Given the description of an element on the screen output the (x, y) to click on. 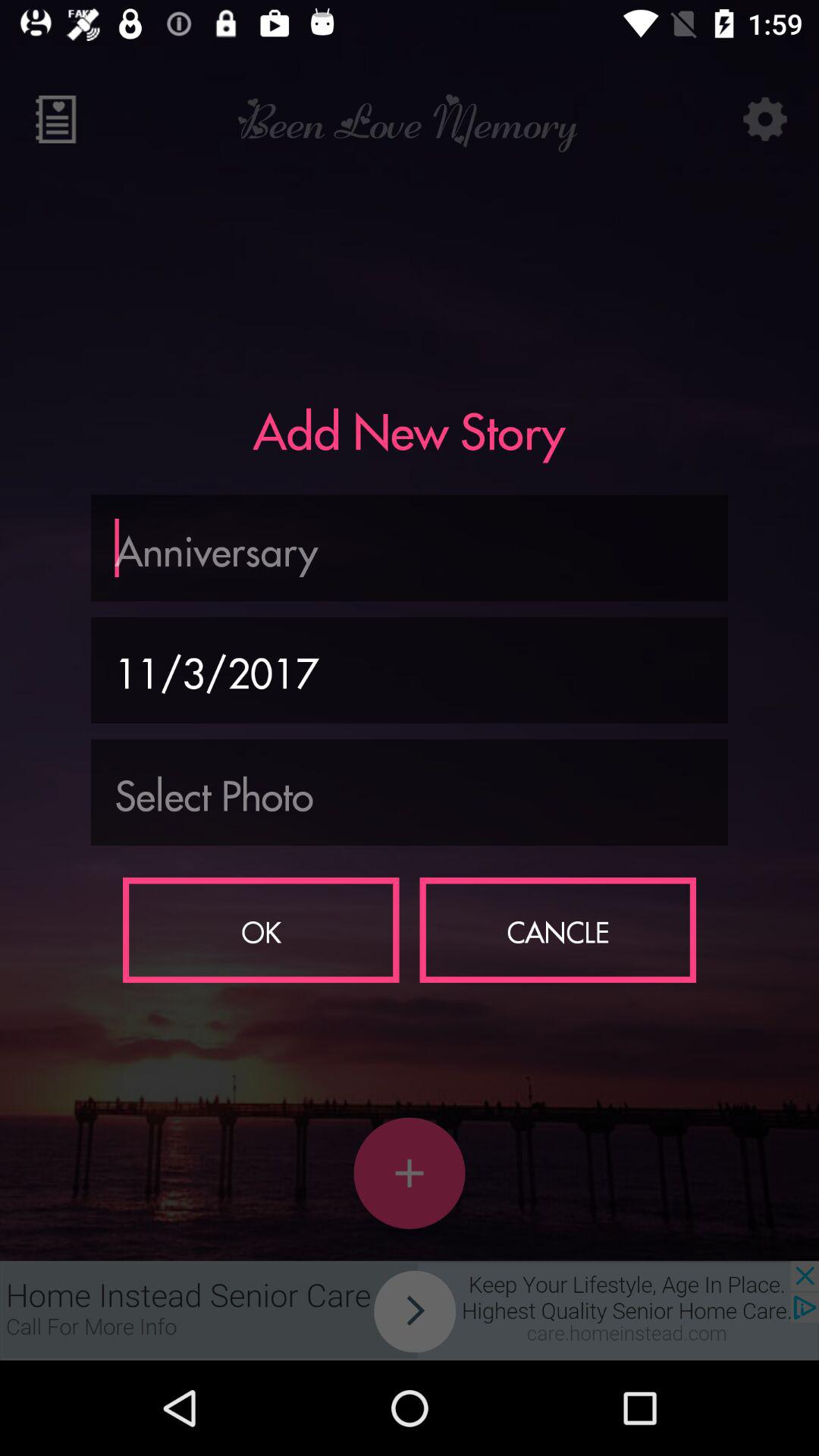
turn on item above ok icon (409, 792)
